Given the description of an element on the screen output the (x, y) to click on. 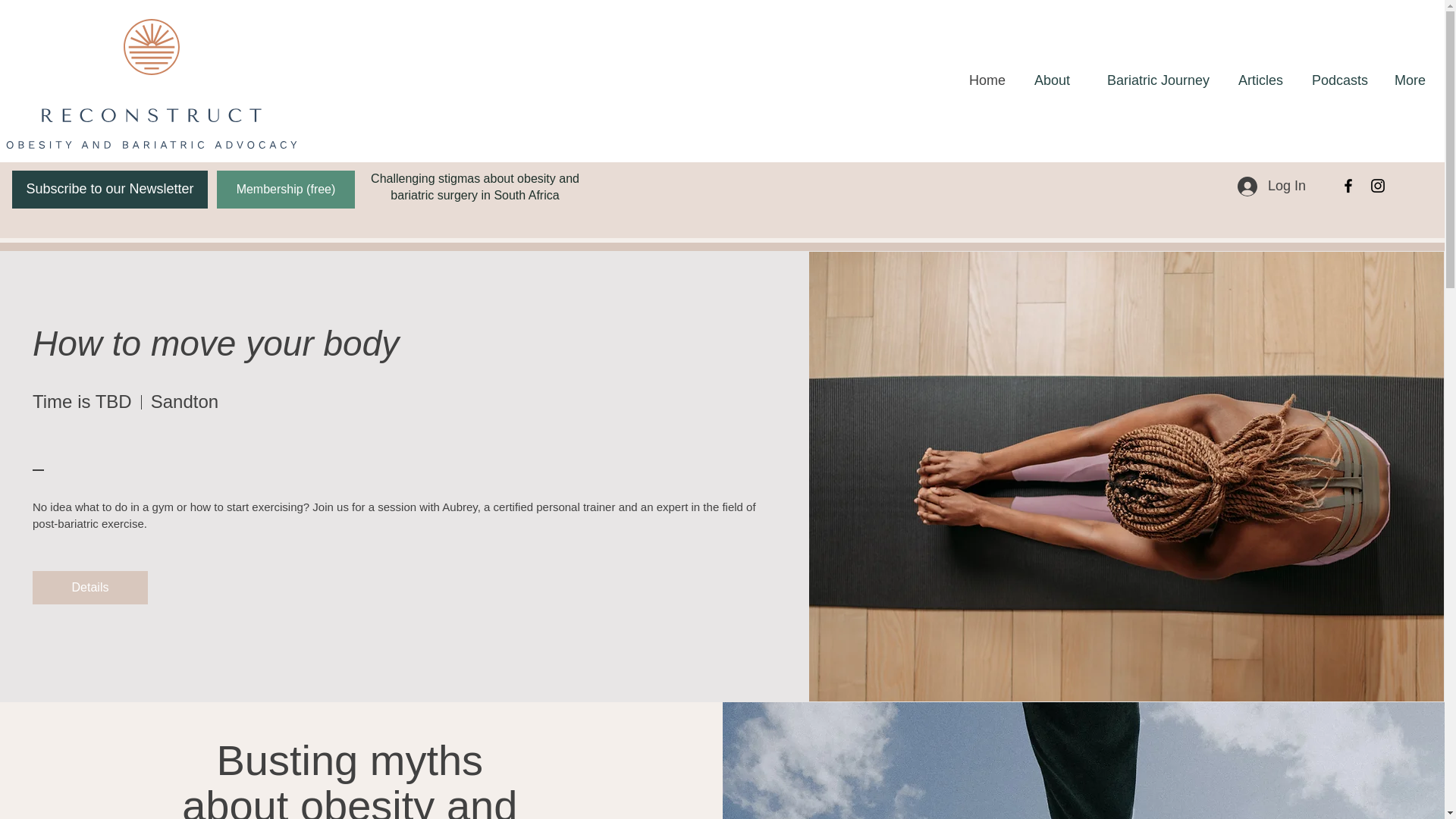
Bariatric Journey (1151, 80)
Details (90, 587)
Subscribe to our Newsletter (109, 189)
Log In (1271, 185)
About (1048, 80)
South Africa (526, 195)
Challenging stigmas about obesity and bariatric surgery in (475, 186)
Articles (1257, 80)
How to move your body (215, 343)
Home (984, 80)
